Given the description of an element on the screen output the (x, y) to click on. 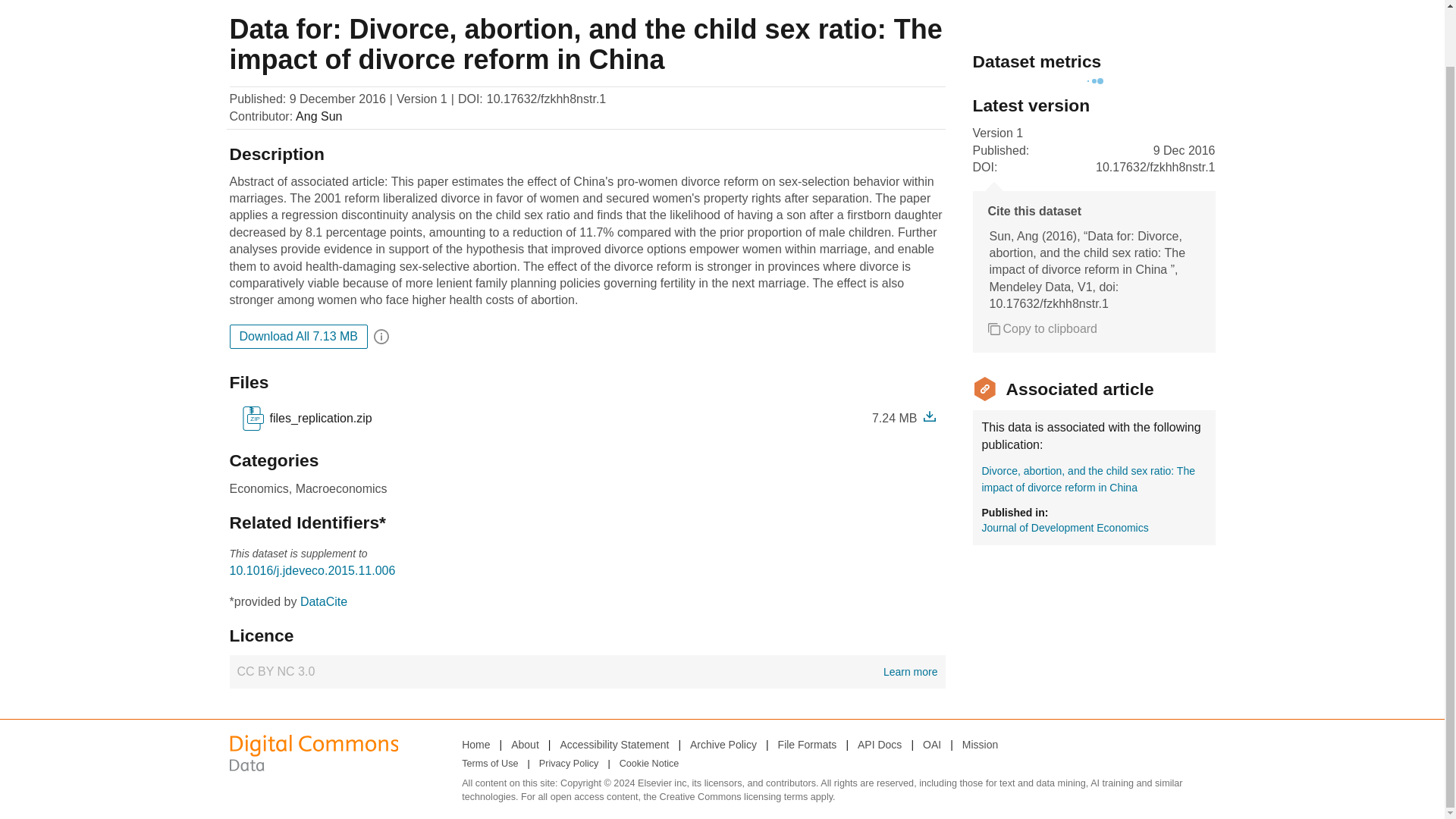
Archive Policy (586, 671)
Download All 7.13 MB (723, 744)
Accessibility Statement (298, 336)
Cookie Notice (613, 744)
File Formats (649, 763)
About (807, 744)
Terms of Use (524, 744)
DataCite (489, 763)
Home (323, 601)
OAI (475, 744)
Copy to clipboard (931, 744)
Journal of Development Economics (1042, 329)
API Docs (1064, 527)
